Given the description of an element on the screen output the (x, y) to click on. 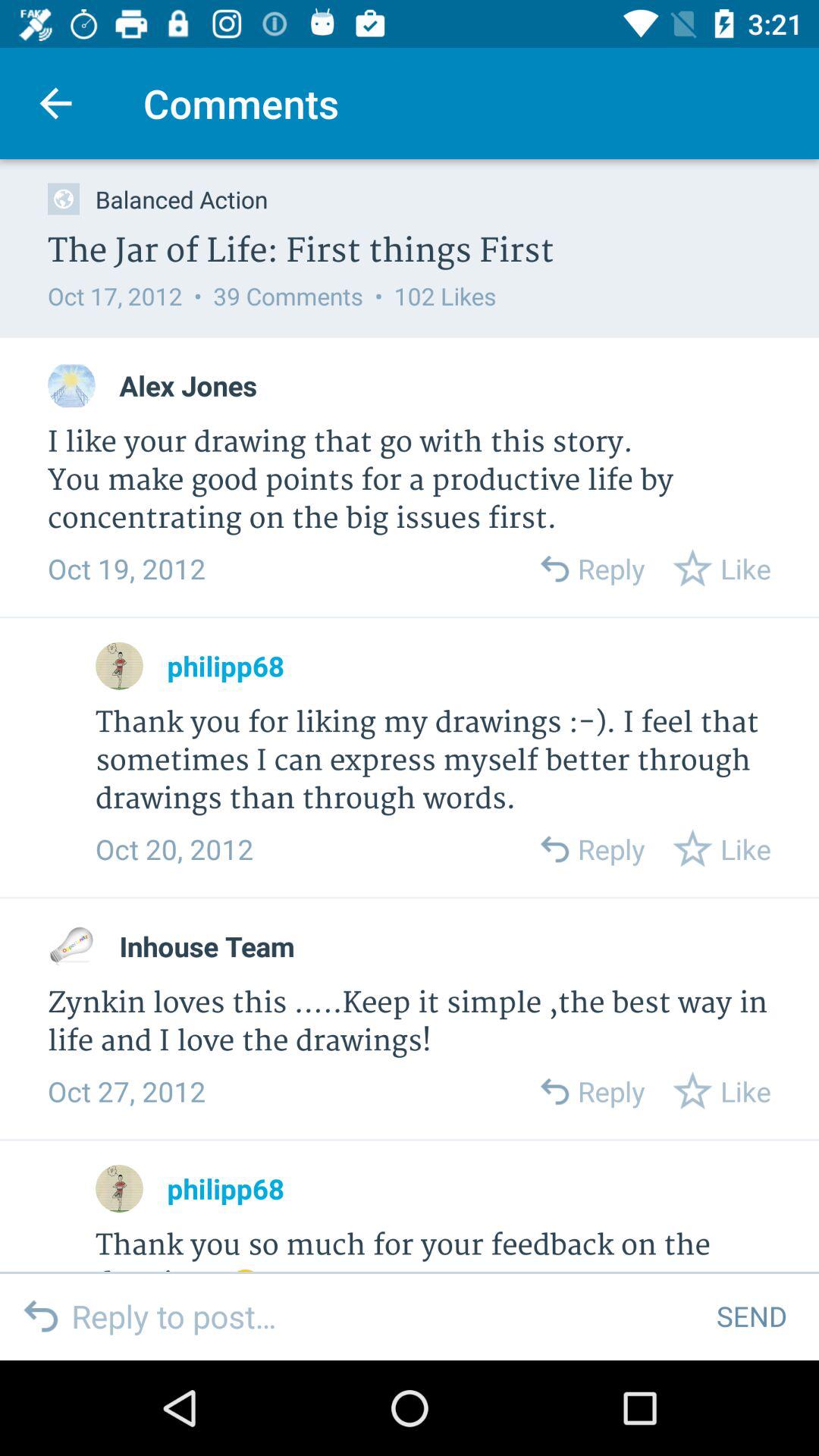
reply to post (381, 1315)
